Given the description of an element on the screen output the (x, y) to click on. 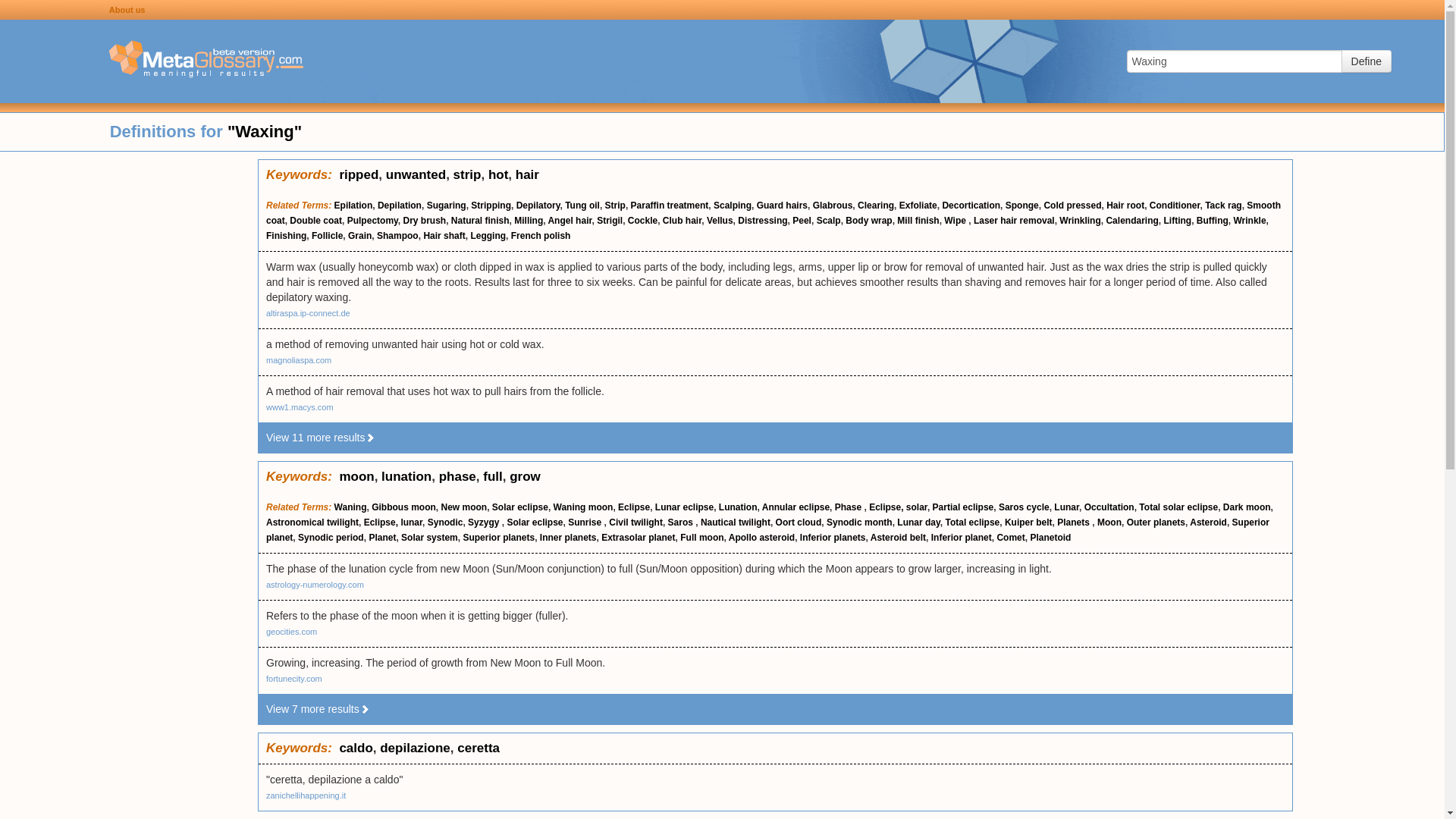
strip (466, 174)
Vellus (719, 220)
Angel hair (569, 220)
Stripping (490, 204)
Sponge (1022, 204)
Cockle (642, 220)
Dry brush (424, 220)
ripped (358, 174)
Scalping (732, 204)
Pulpectomy (372, 220)
